Given the description of an element on the screen output the (x, y) to click on. 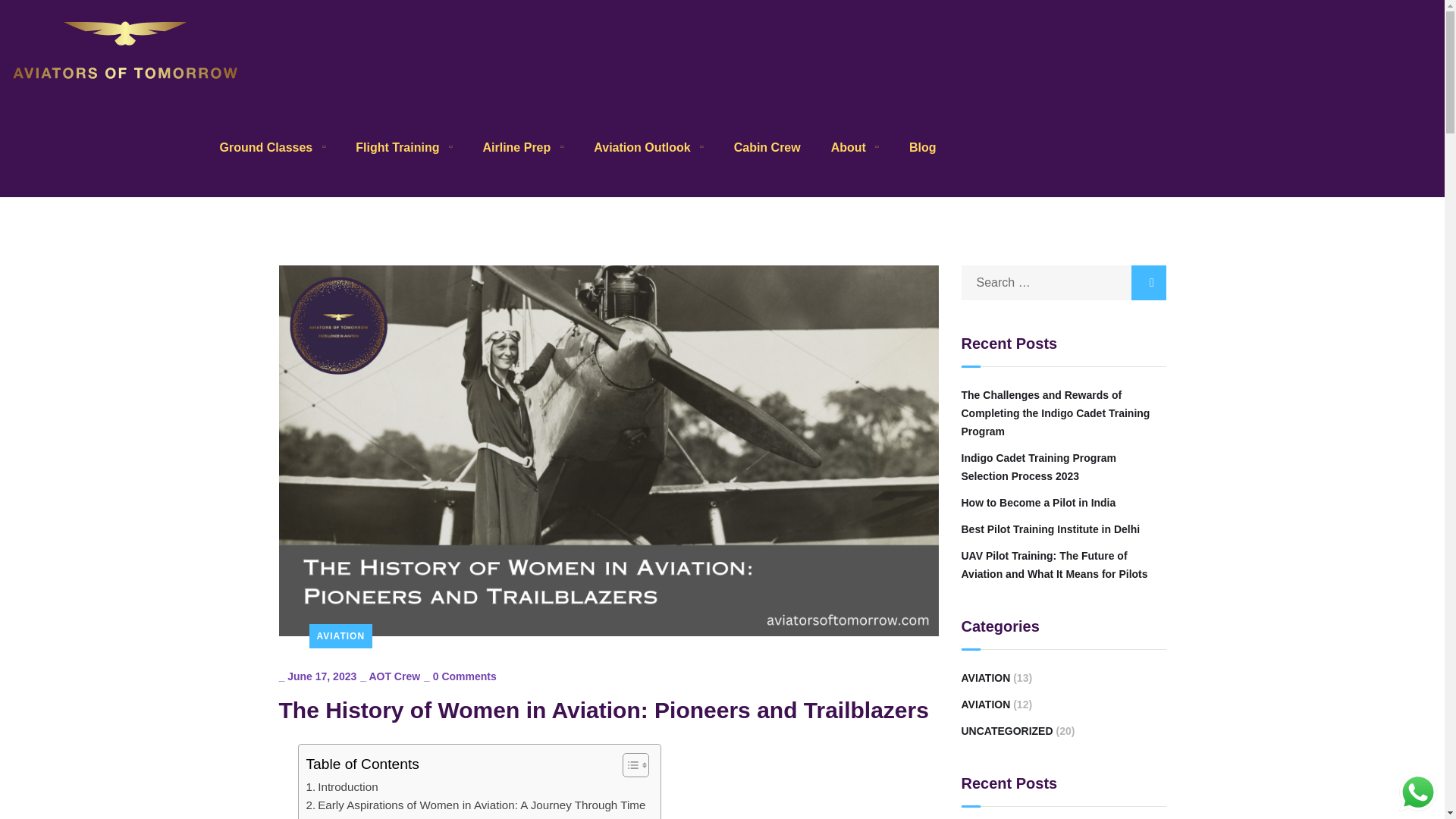
Introduction (341, 787)
Flight Training (403, 147)
Ground Classes (272, 147)
Blog (922, 147)
About (855, 147)
Airline Prep (522, 147)
Cabin Crew (377, 816)
Aviation Outlook (766, 147)
